Given the description of an element on the screen output the (x, y) to click on. 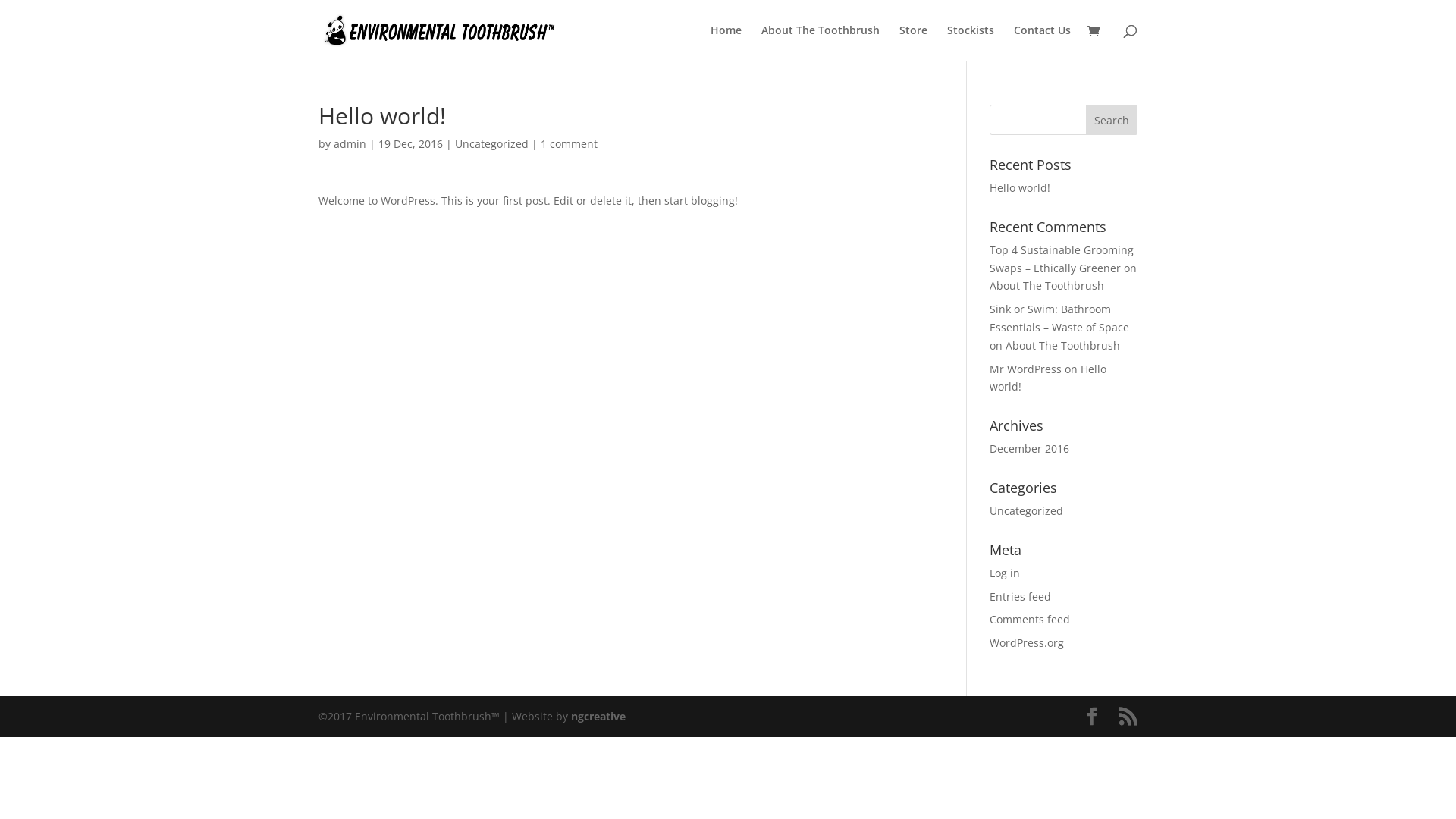
About The Toothbrush Element type: text (820, 42)
admin Element type: text (349, 143)
Entries feed Element type: text (1020, 596)
Uncategorized Element type: text (1026, 510)
Log in Element type: text (1004, 572)
Home Element type: text (725, 42)
Hello world! Element type: text (1047, 377)
1 comment Element type: text (568, 143)
Uncategorized Element type: text (491, 143)
About The Toothbrush Element type: text (1062, 345)
ngcreative Element type: text (598, 716)
WordPress.org Element type: text (1026, 642)
Store Element type: text (913, 42)
Mr WordPress Element type: text (1025, 368)
Stockists Element type: text (970, 42)
Contact Us Element type: text (1041, 42)
December 2016 Element type: text (1029, 448)
Search Element type: text (1111, 119)
Comments feed Element type: text (1029, 618)
About The Toothbrush Element type: text (1046, 285)
Hello world! Element type: text (1019, 187)
